Given the description of an element on the screen output the (x, y) to click on. 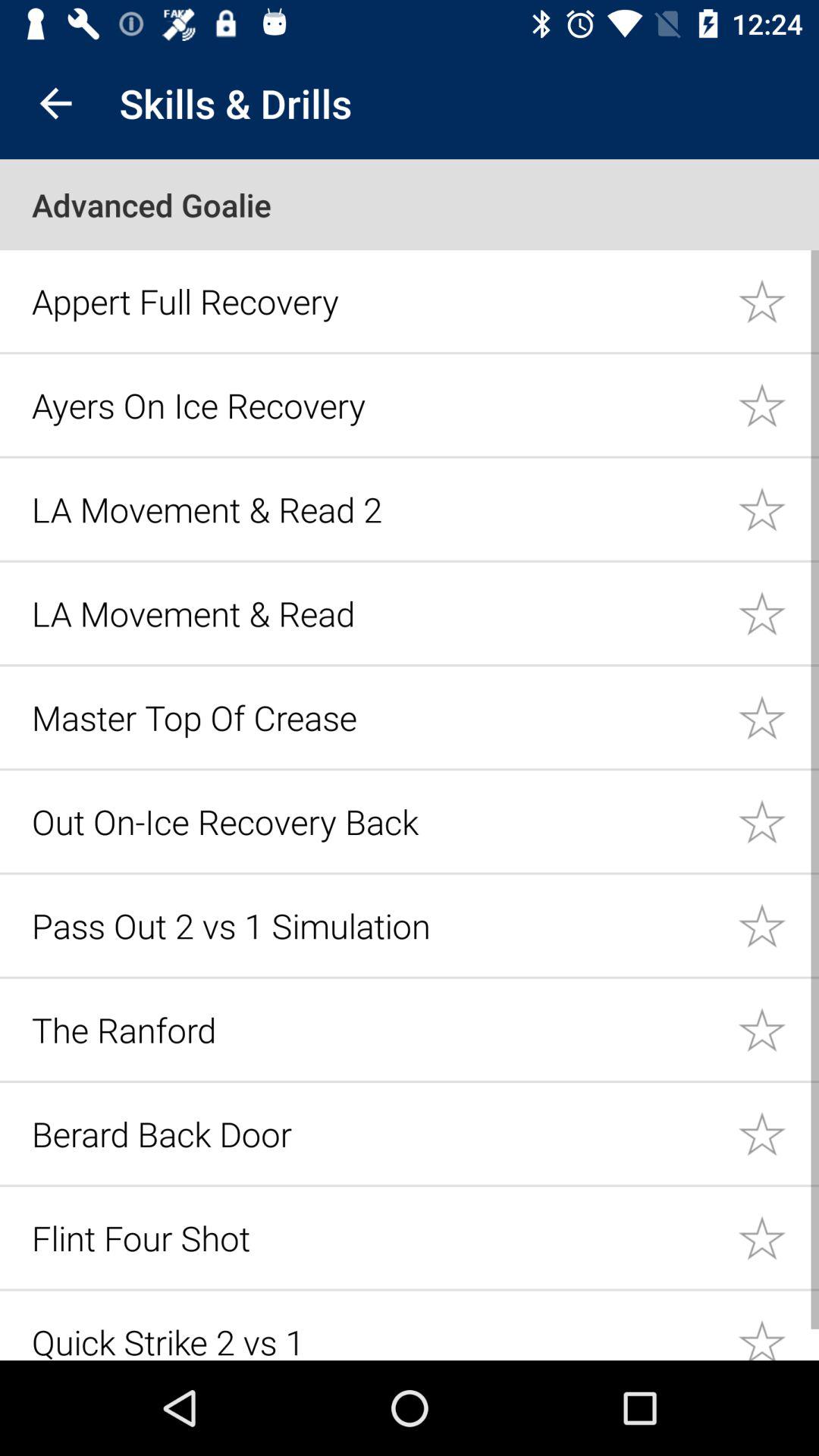
jump until appert full recovery icon (376, 301)
